Given the description of an element on the screen output the (x, y) to click on. 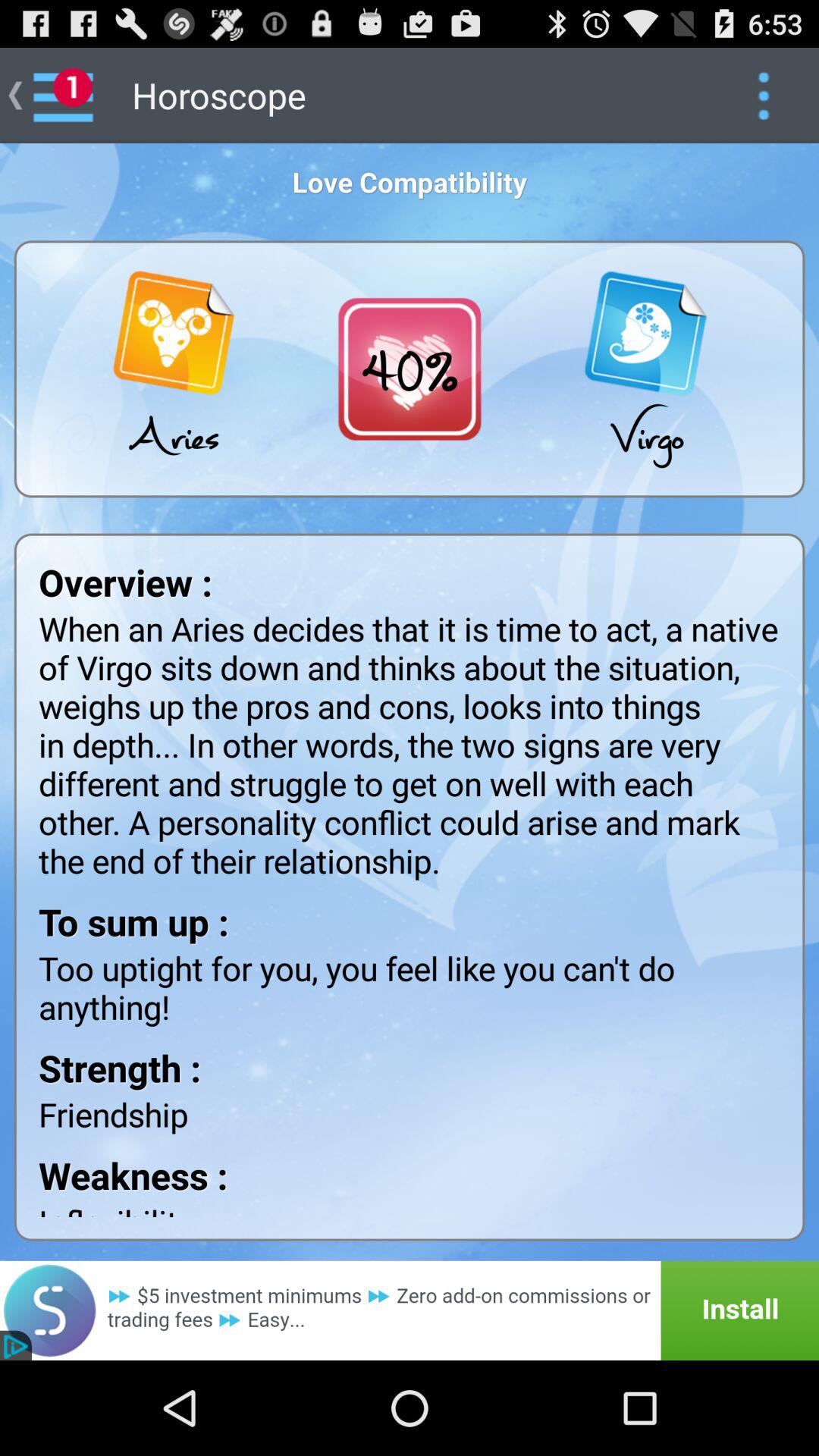
menu option (763, 95)
